Given the description of an element on the screen output the (x, y) to click on. 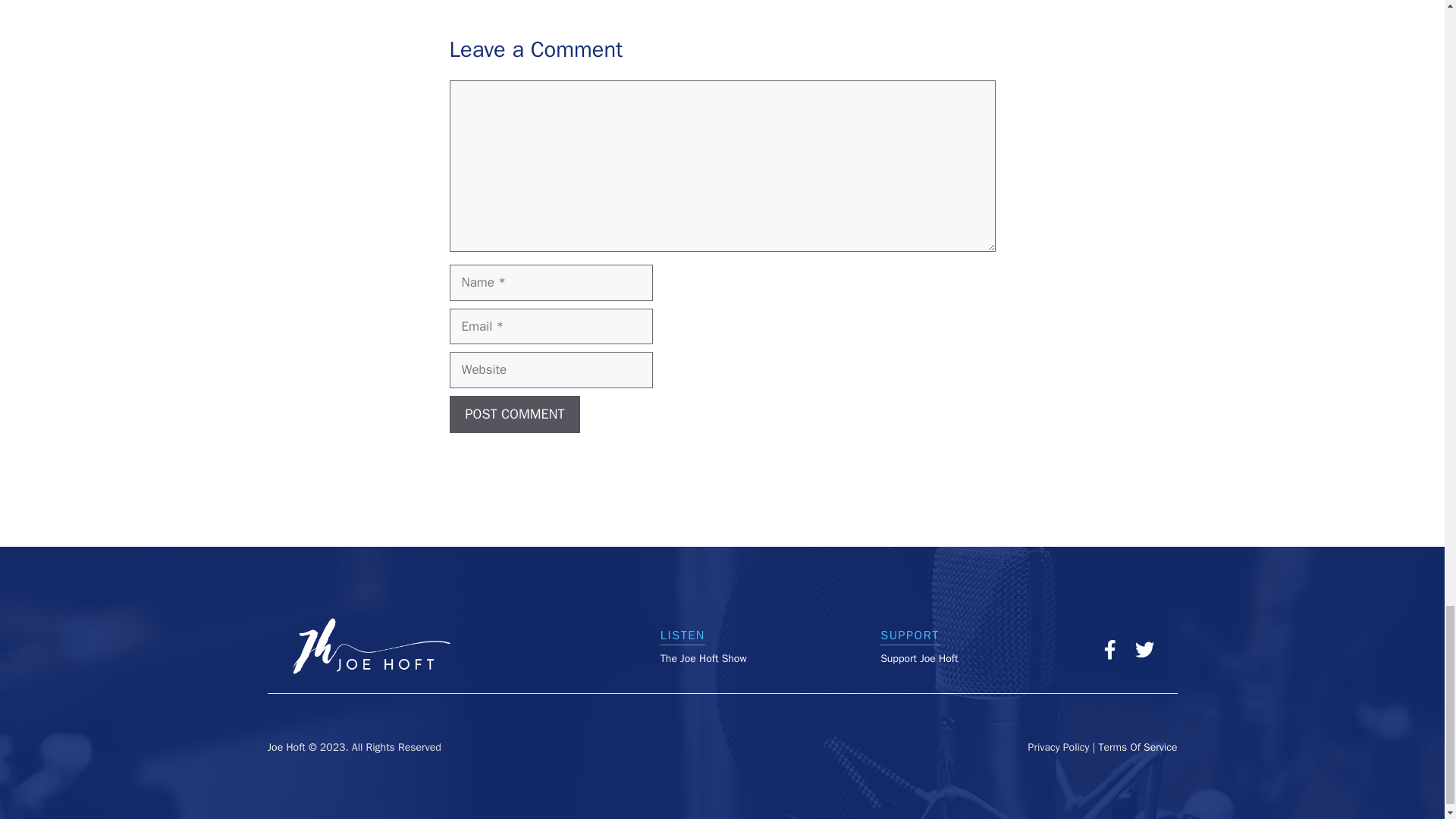
Post Comment (513, 414)
